Given the description of an element on the screen output the (x, y) to click on. 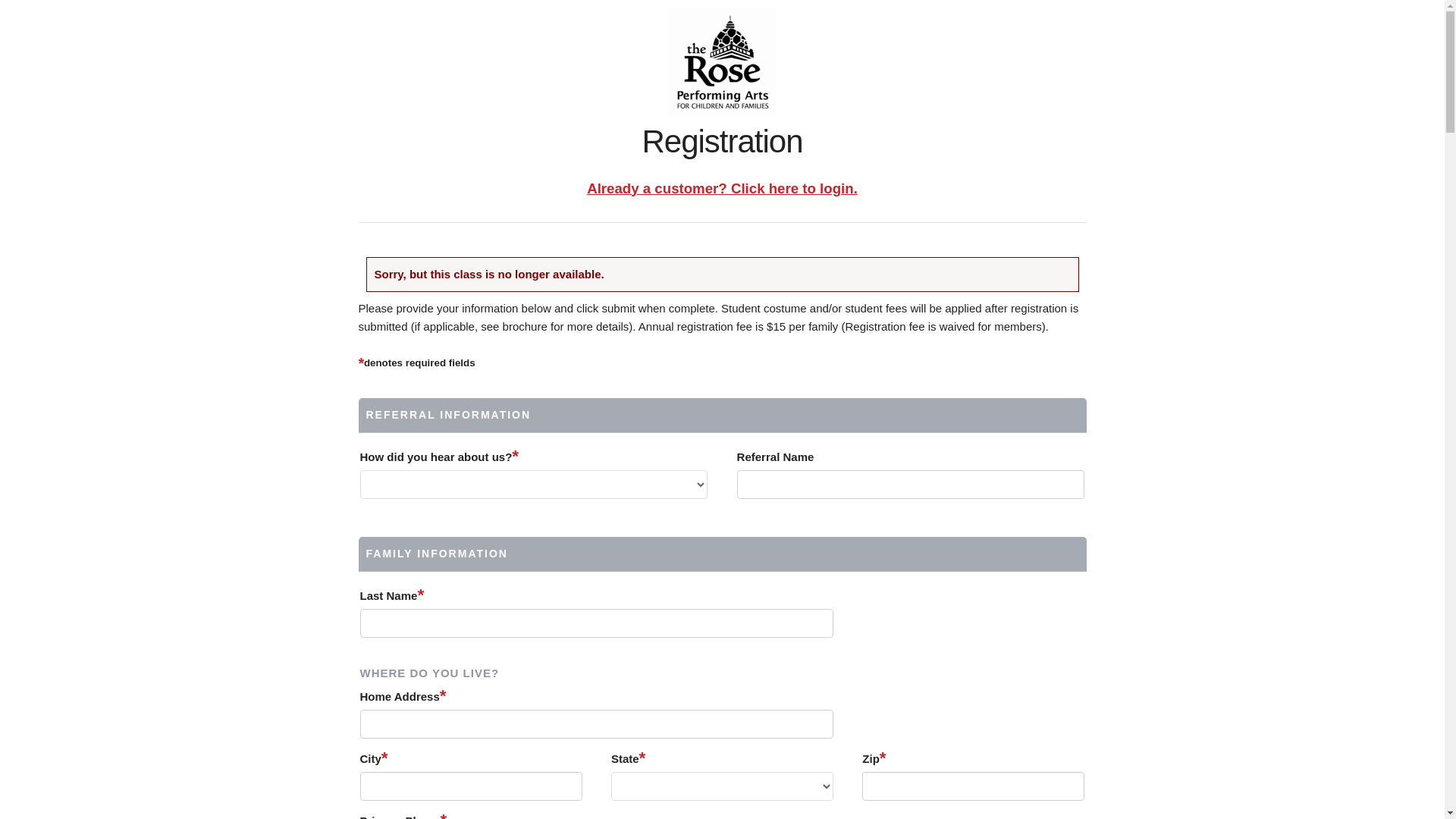
Already a customer? Click here to login. (721, 188)
